Given the description of an element on the screen output the (x, y) to click on. 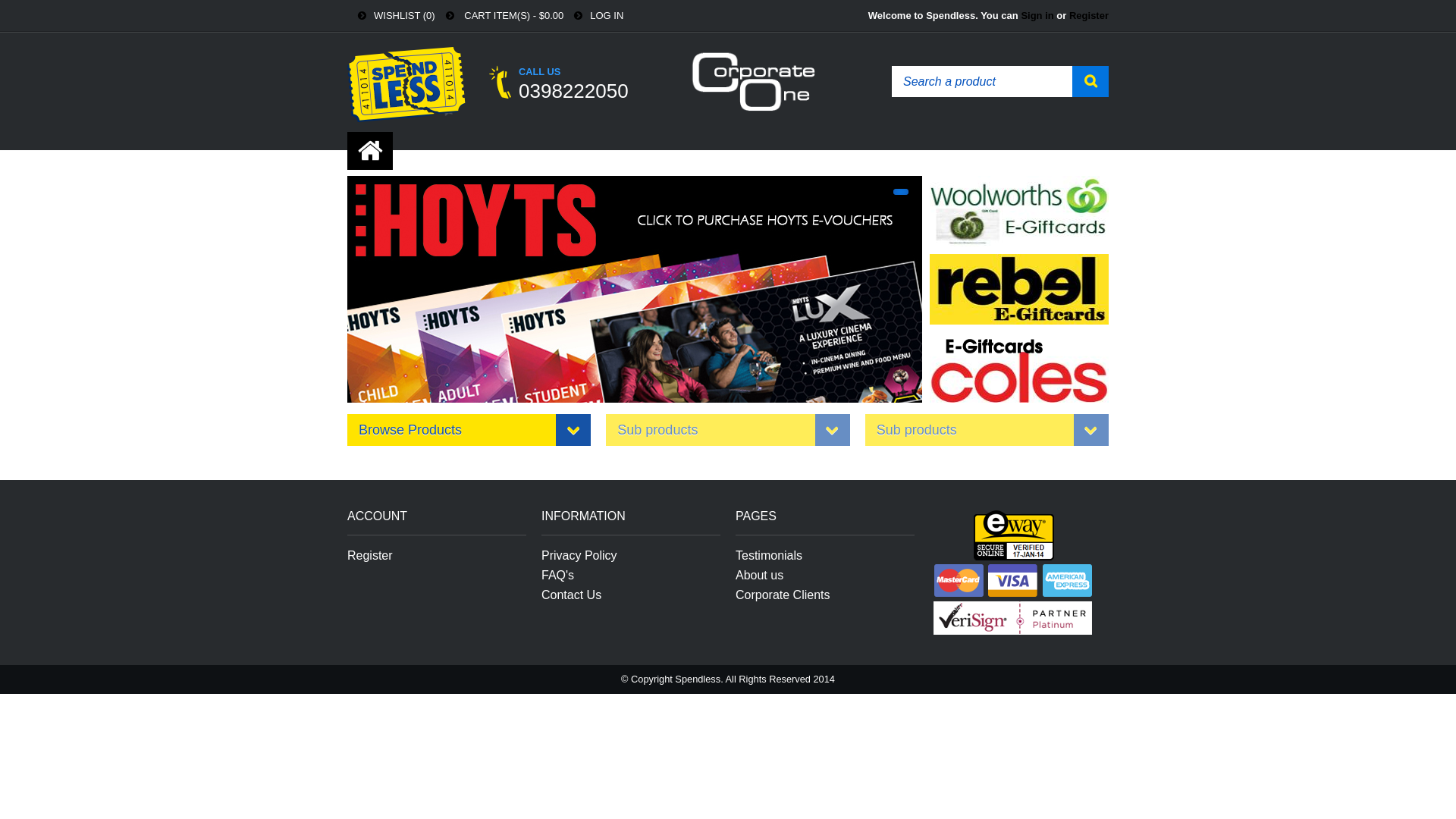
FAQ's Element type: text (557, 575)
Register Element type: text (369, 555)
CART ITEM(S) - $0.00 Element type: text (499, 15)
Search Element type: hover (1090, 81)
Browse Products
  Element type: text (468, 429)
Sign in Element type: text (1036, 15)
WISHLIST (0) Element type: text (391, 15)
LOG IN Element type: text (593, 15)
Spendless Store Element type: hover (406, 84)
Contact Us Element type: text (571, 595)
Testimonials Element type: text (768, 555)
Register Element type: text (1088, 15)
About us Element type: text (759, 575)
Sub products
  Element type: text (727, 429)
Corporate Clients Element type: text (782, 595)
Privacy Policy Element type: text (579, 555)
Sub products
  Element type: text (986, 429)
